Given the description of an element on the screen output the (x, y) to click on. 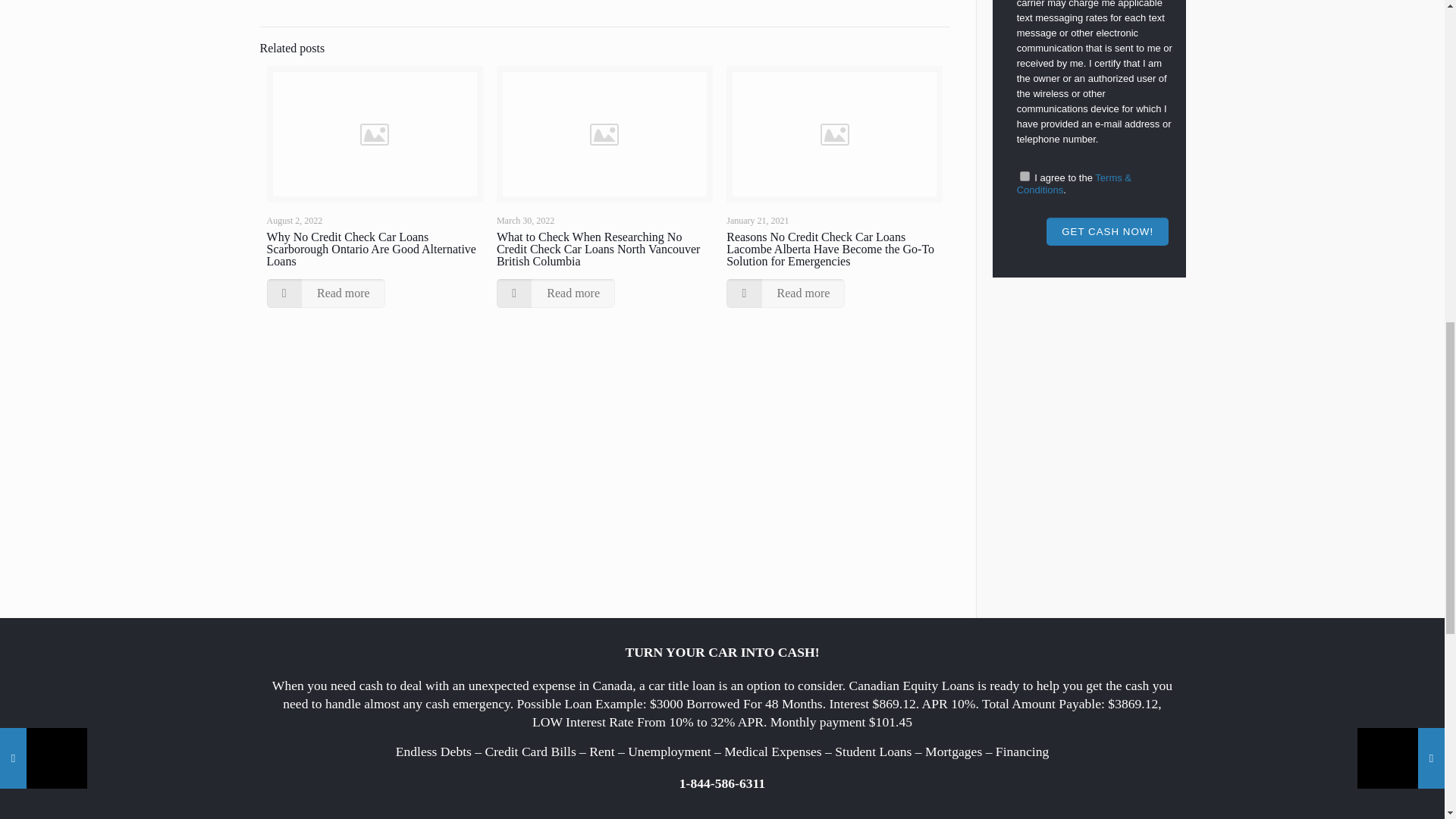
GET CASH NOW! (1107, 231)
GET CASH NOW! (1107, 231)
Read more (555, 293)
1 (1024, 175)
Read more (785, 293)
1-844-586-6311 (722, 783)
Read more (325, 293)
